Given the description of an element on the screen output the (x, y) to click on. 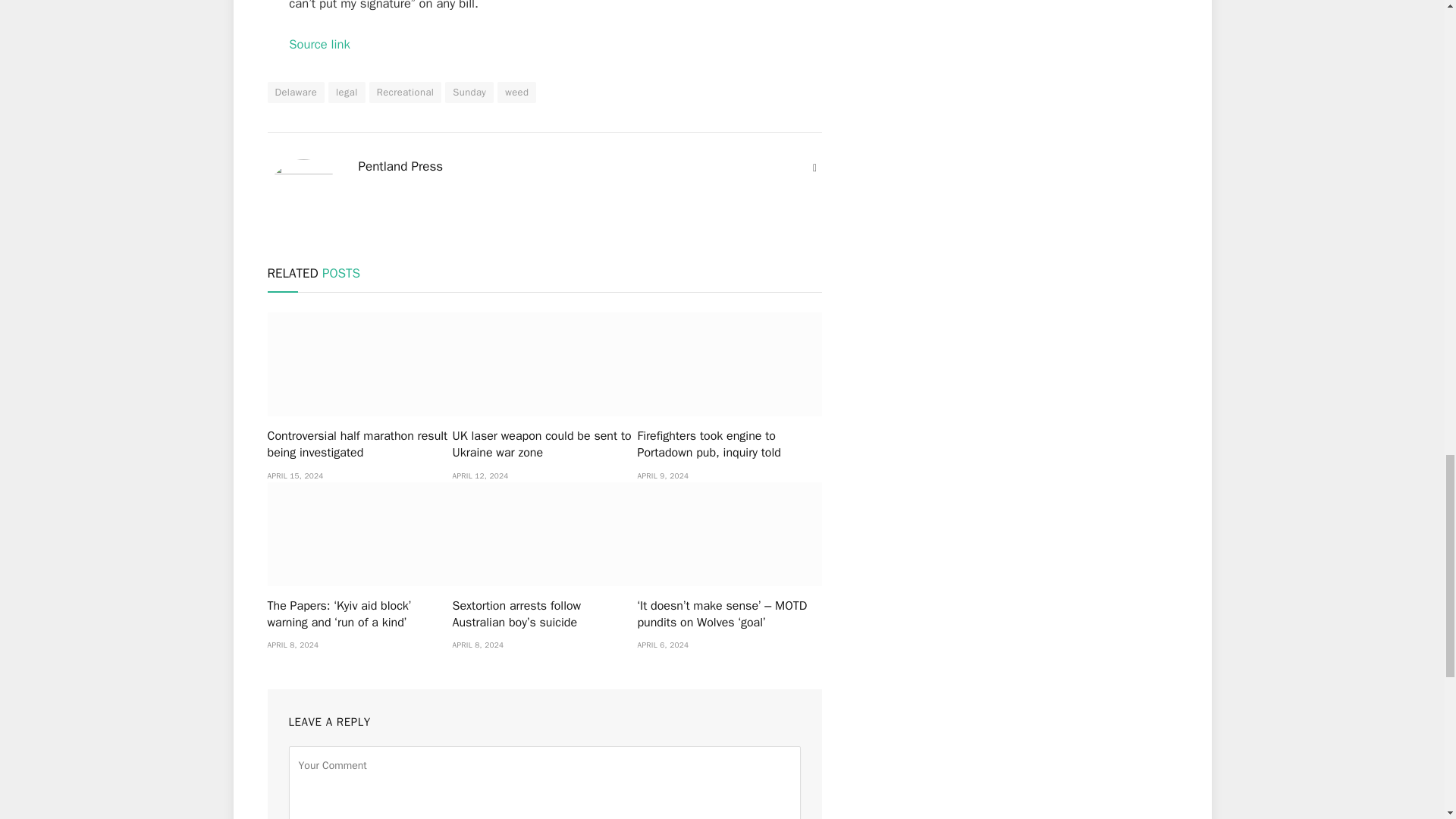
Sunday (469, 92)
Source link (319, 44)
legal (347, 92)
Delaware (295, 92)
Posts by Pentland Press (400, 166)
Controversial half marathon result being investigated (358, 364)
UK laser weapon could be sent to Ukraine war zone (544, 364)
Website (814, 168)
weed (516, 92)
Recreational (405, 92)
